Given the description of an element on the screen output the (x, y) to click on. 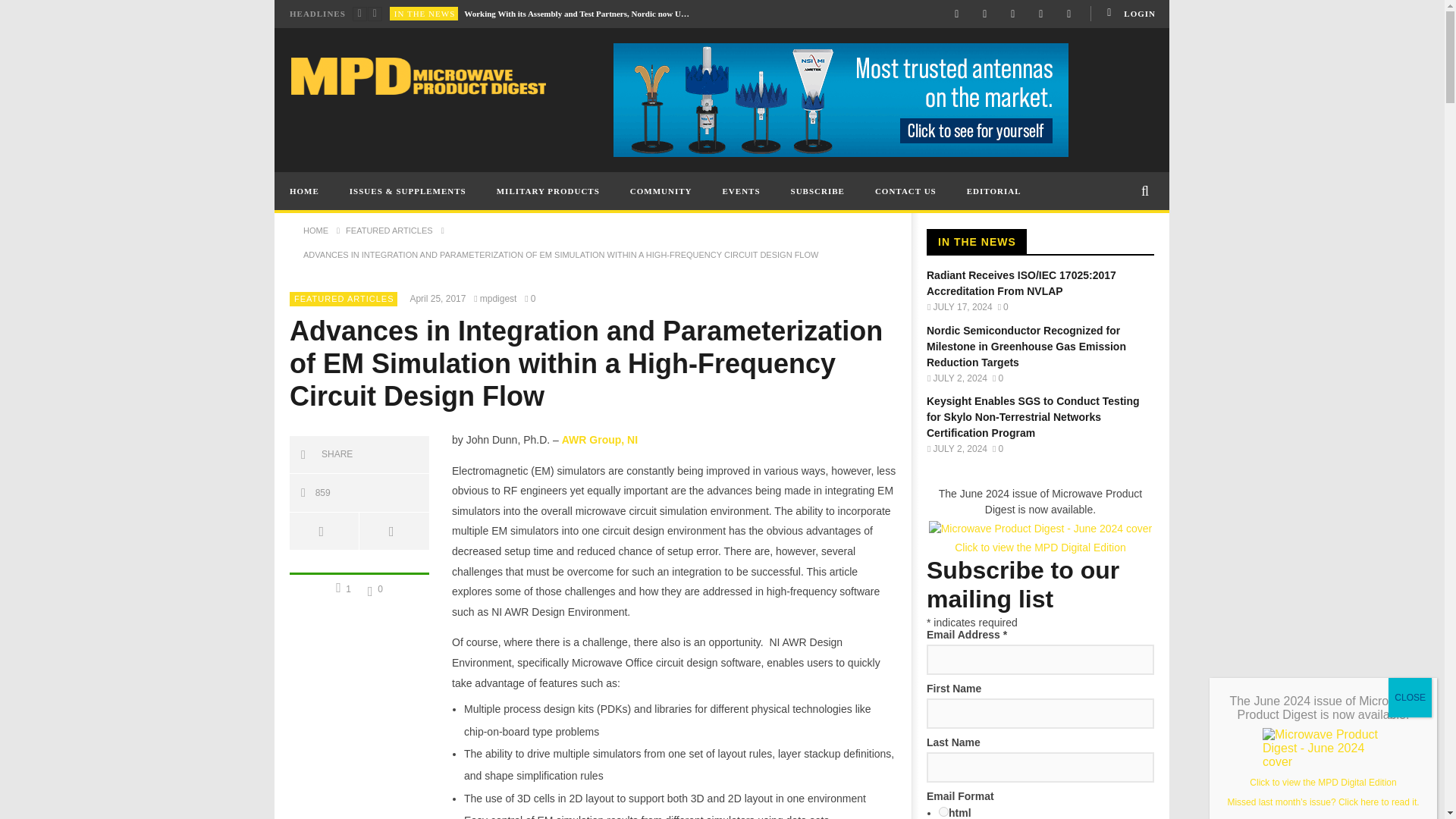
View all posts in In The News (424, 13)
IN THE NEWS (424, 13)
LOGIN (1129, 13)
EVENTS (741, 190)
MILITARY PRODUCTS (547, 190)
CONTACT US (906, 190)
SUBSCRIBE (818, 190)
HOME (304, 190)
html (944, 811)
COMMUNITY (660, 190)
